Given the description of an element on the screen output the (x, y) to click on. 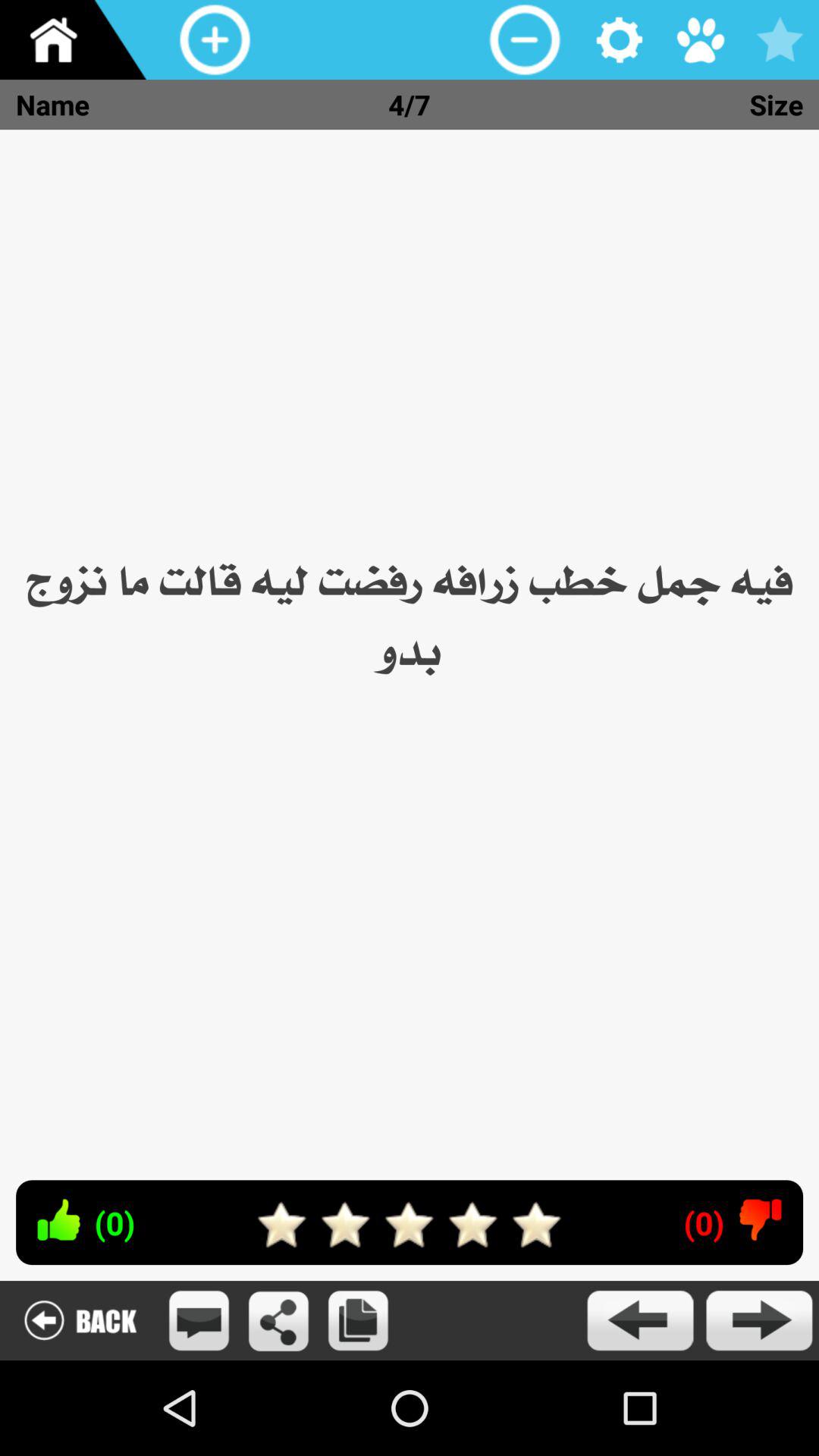
turn on app above name (79, 39)
